Given the description of an element on the screen output the (x, y) to click on. 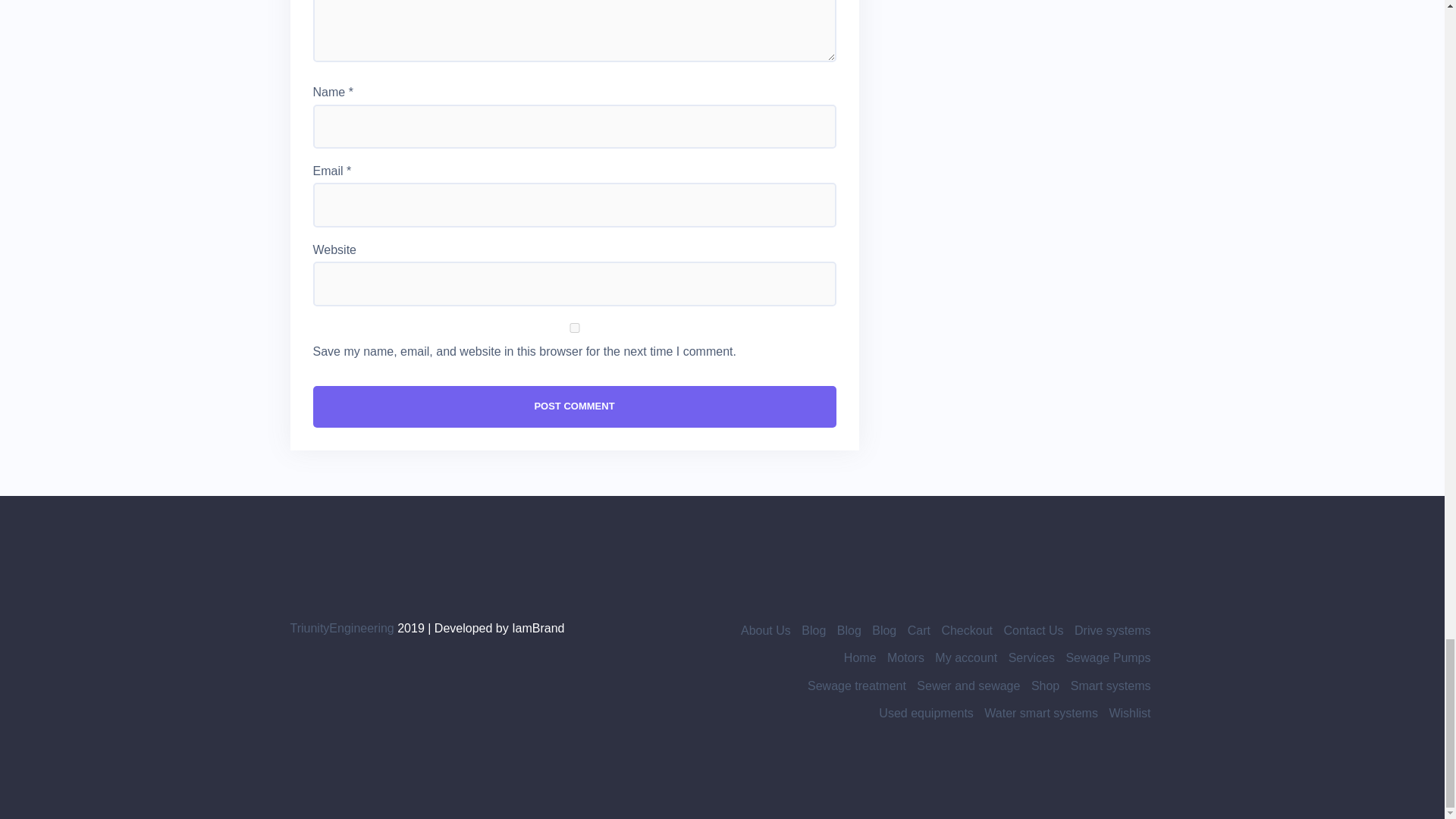
Sewage Pumps (1107, 657)
Blog (849, 630)
Blog (813, 630)
Contact Us (1032, 630)
Post Comment (574, 406)
Sewer and sewage (968, 685)
Blog (884, 630)
Shop (1044, 685)
TriunityEngineering (341, 627)
Water smart systems (1040, 712)
